Given the description of an element on the screen output the (x, y) to click on. 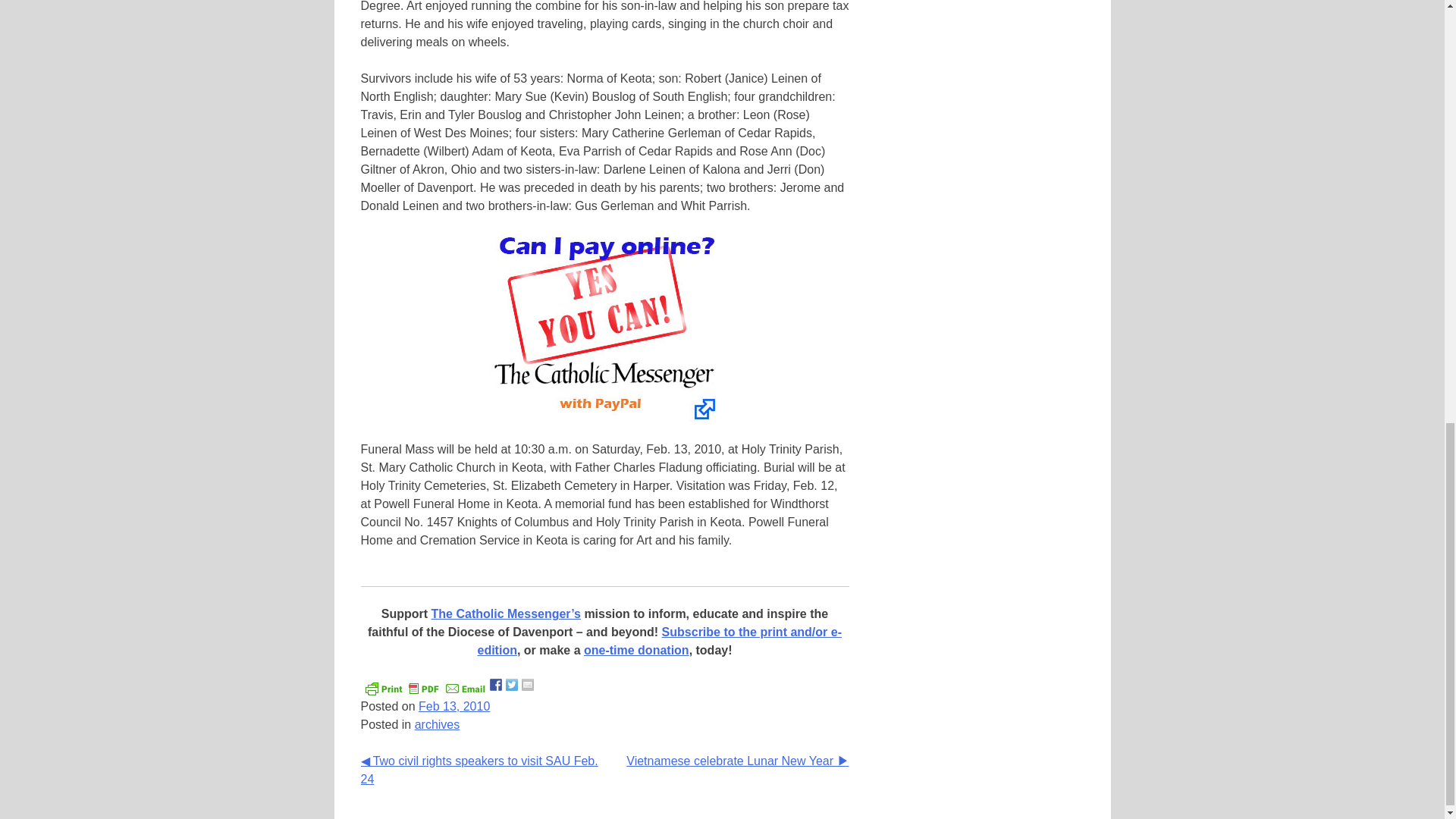
Share by email (527, 684)
Share on Facebook (495, 684)
Share on Twitter (510, 684)
